Given the description of an element on the screen output the (x, y) to click on. 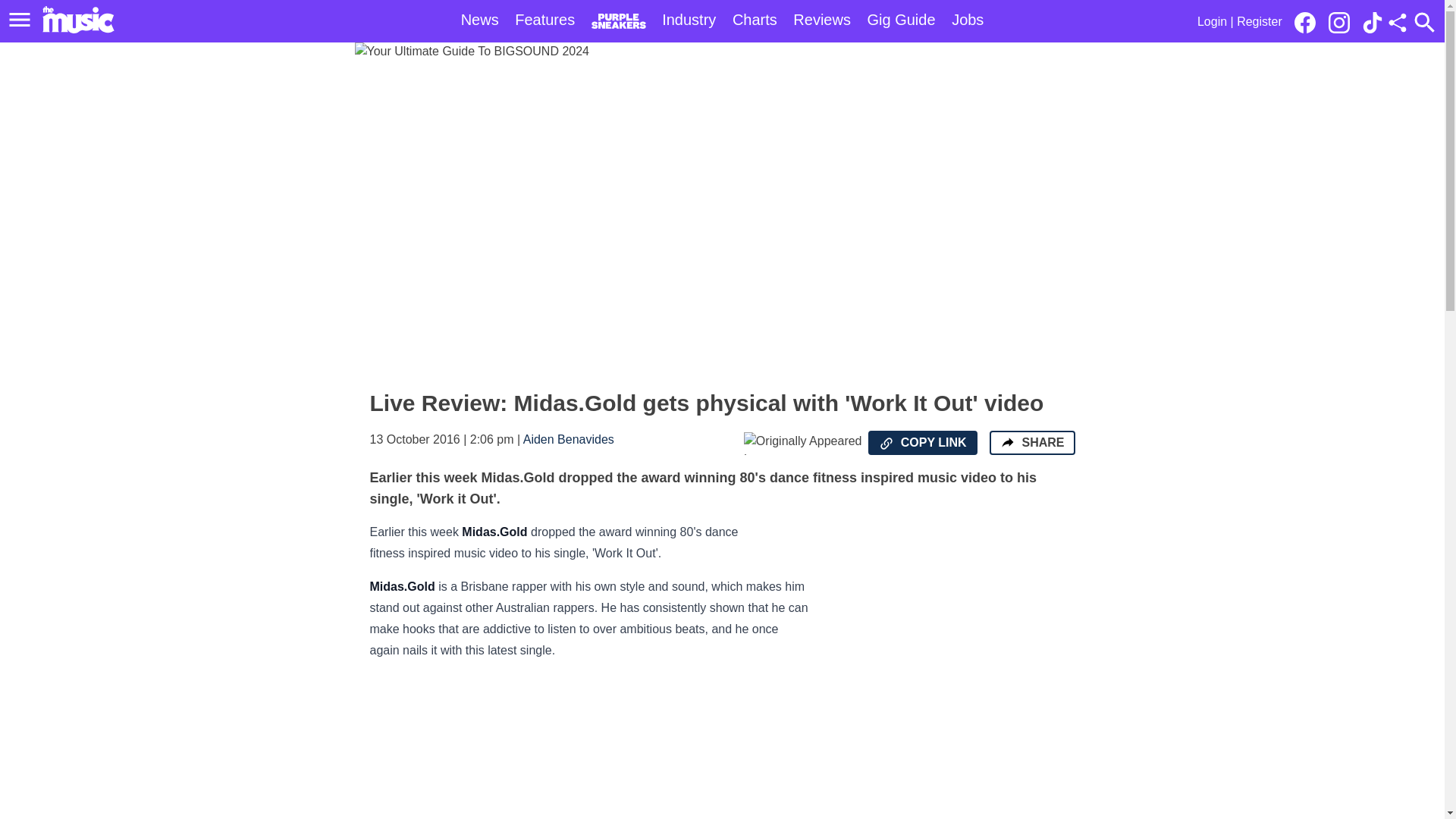
Jobs (968, 19)
Reviews (821, 19)
Copy the page URL COPY LINK (921, 442)
News (480, 19)
Register (1259, 21)
Open the site search menu (1424, 22)
Charts (754, 19)
Link to our Facebook (1309, 21)
Share the page (1007, 441)
Copy the page URL (886, 443)
